Given the description of an element on the screen output the (x, y) to click on. 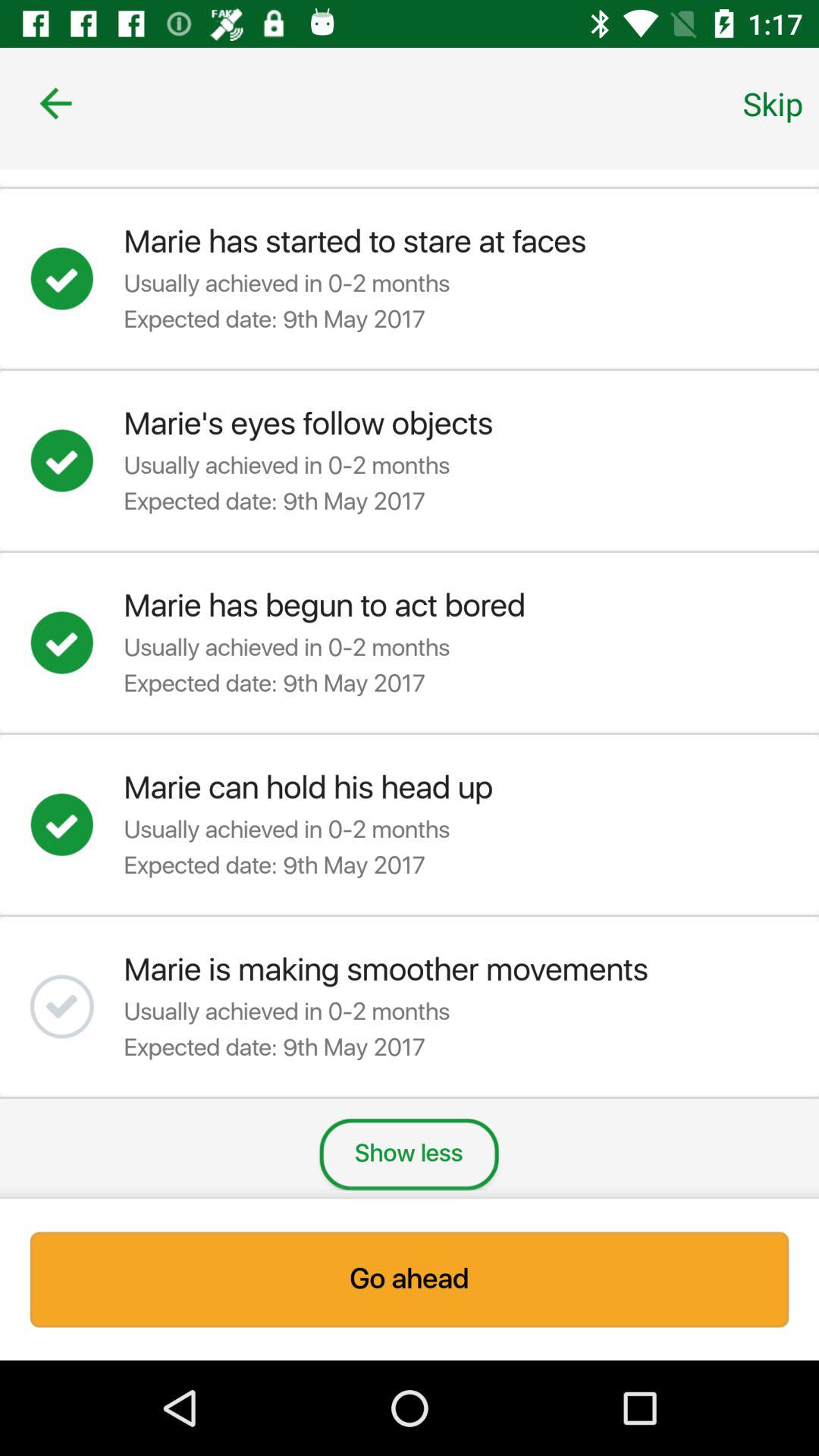
select the option (76, 460)
